Given the description of an element on the screen output the (x, y) to click on. 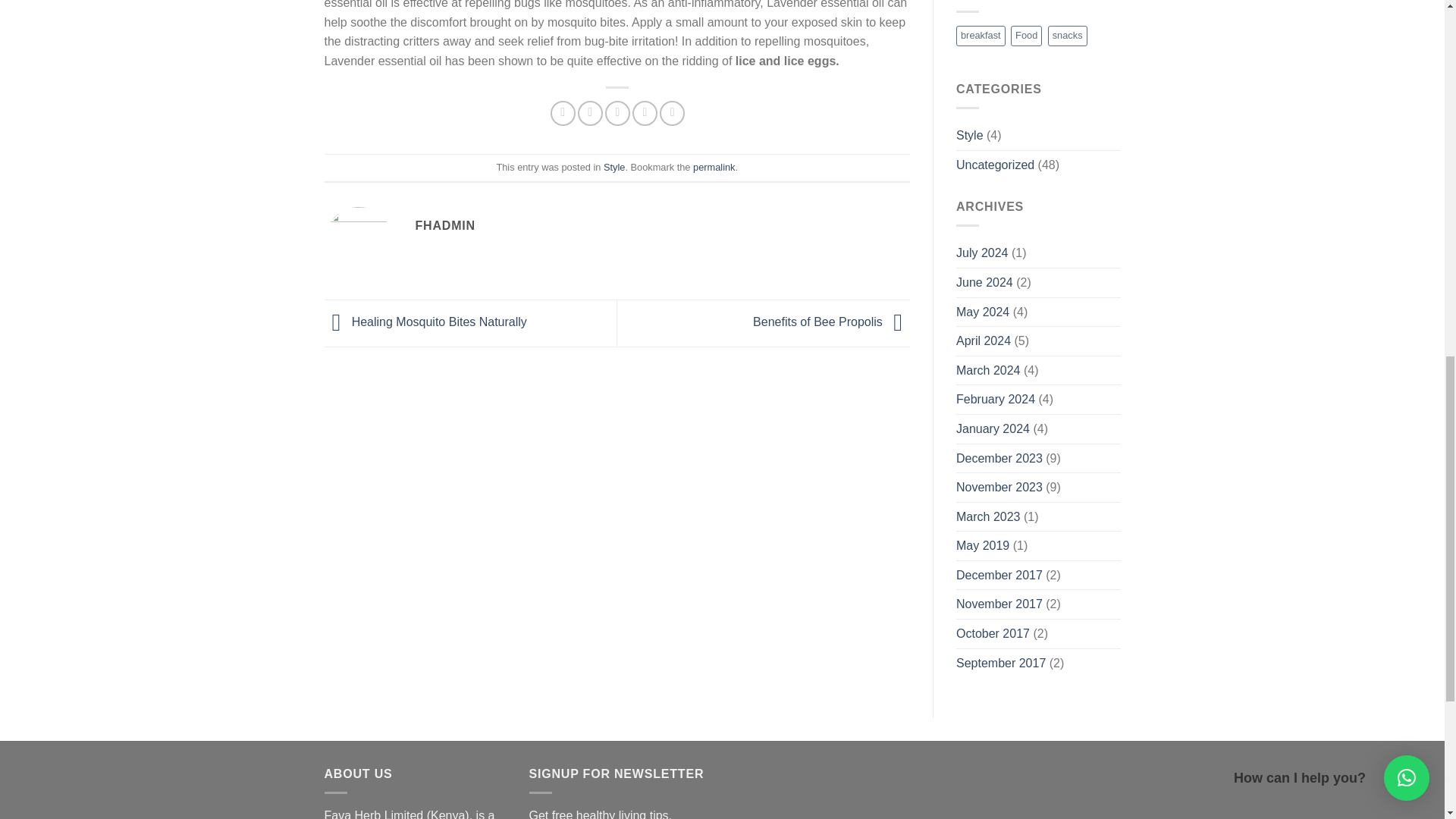
Share on Twitter (590, 113)
Pin on Pinterest (644, 113)
Permalink to Lavender Essential Oil For Your Skin (714, 166)
Share on Facebook (562, 113)
Share on LinkedIn (671, 113)
Email to a Friend (617, 113)
